Given the description of an element on the screen output the (x, y) to click on. 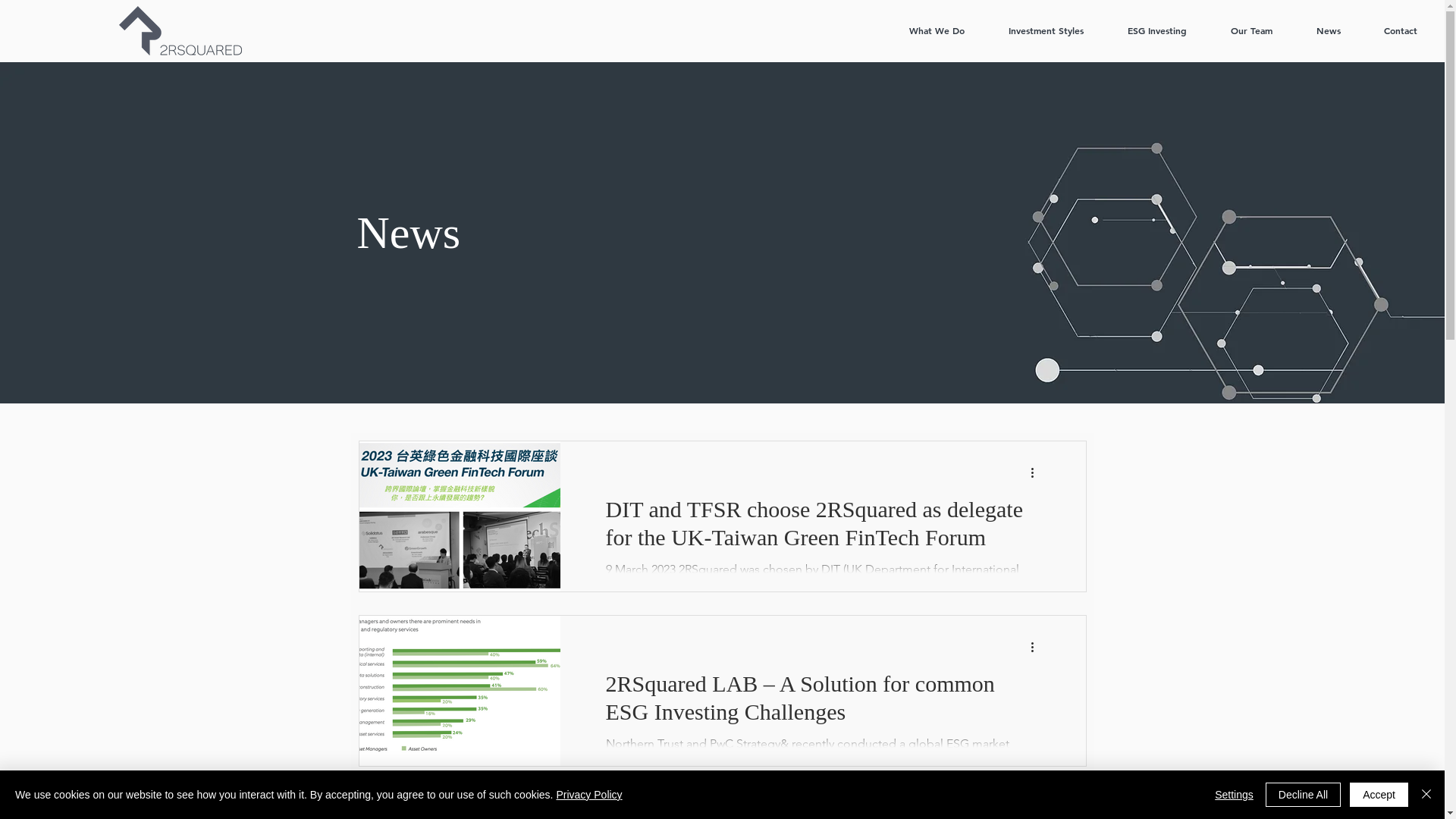
Contact Element type: text (1399, 30)
News Element type: text (1327, 30)
Accept Element type: text (1378, 794)
What We Do Element type: text (936, 30)
Investment Styles Element type: text (1045, 30)
ESG Investing Element type: text (1156, 30)
Decline All Element type: text (1302, 794)
Privacy Policy Element type: text (588, 794)
Our Team Element type: text (1251, 30)
